Given the description of an element on the screen output the (x, y) to click on. 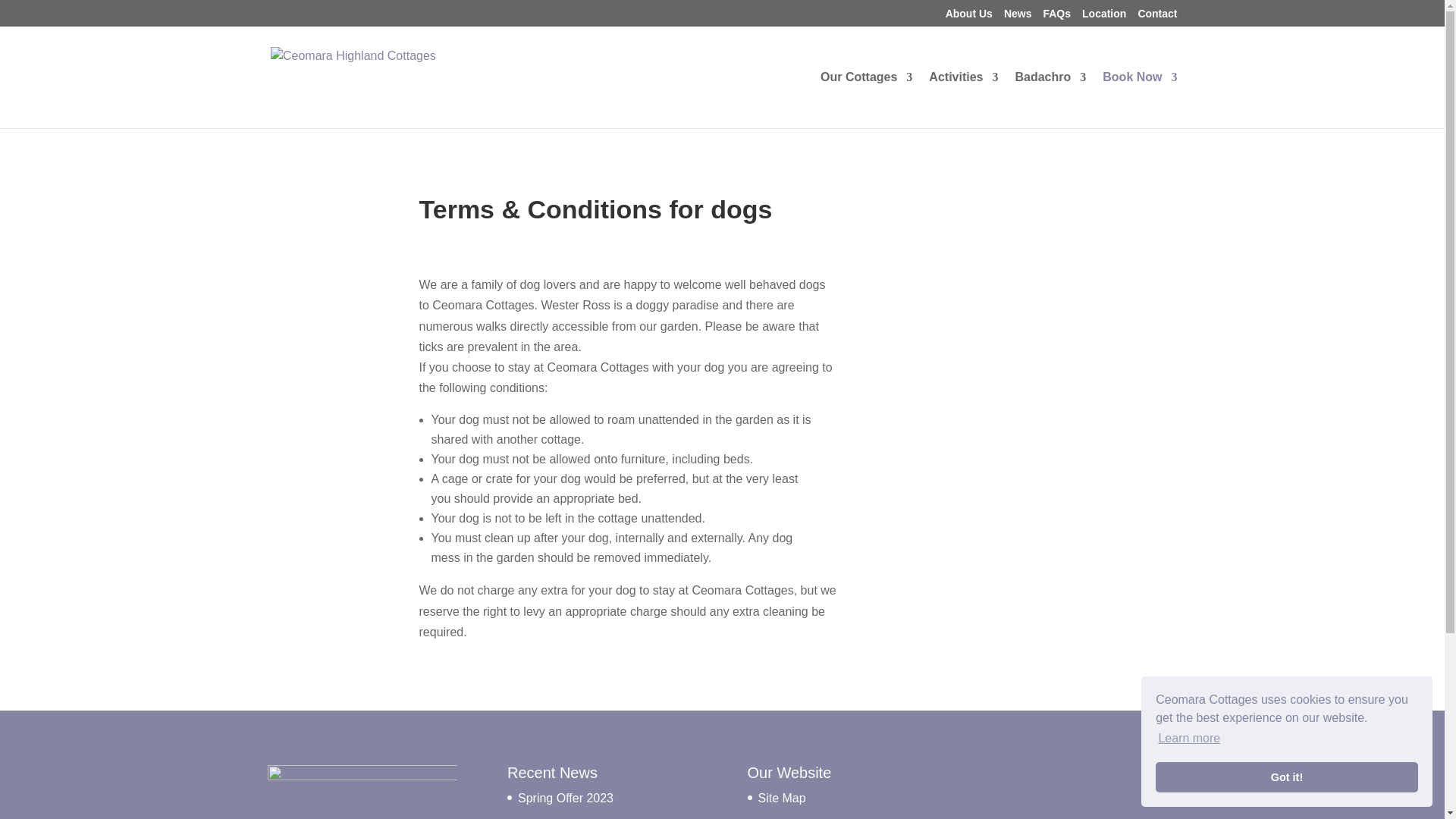
Contact Ceomara Highland Cottages (1156, 16)
Our Cottages (866, 95)
News (1018, 16)
Book Now (1139, 95)
About Us (968, 16)
Our Self-Catering Cottages (866, 95)
Things to See and Do around Badachro (962, 95)
News from Ceomara (1018, 16)
Badachro (1050, 95)
Location (1103, 16)
Activities (962, 95)
FAQs (1056, 16)
Contact (1156, 16)
